Given the description of an element on the screen output the (x, y) to click on. 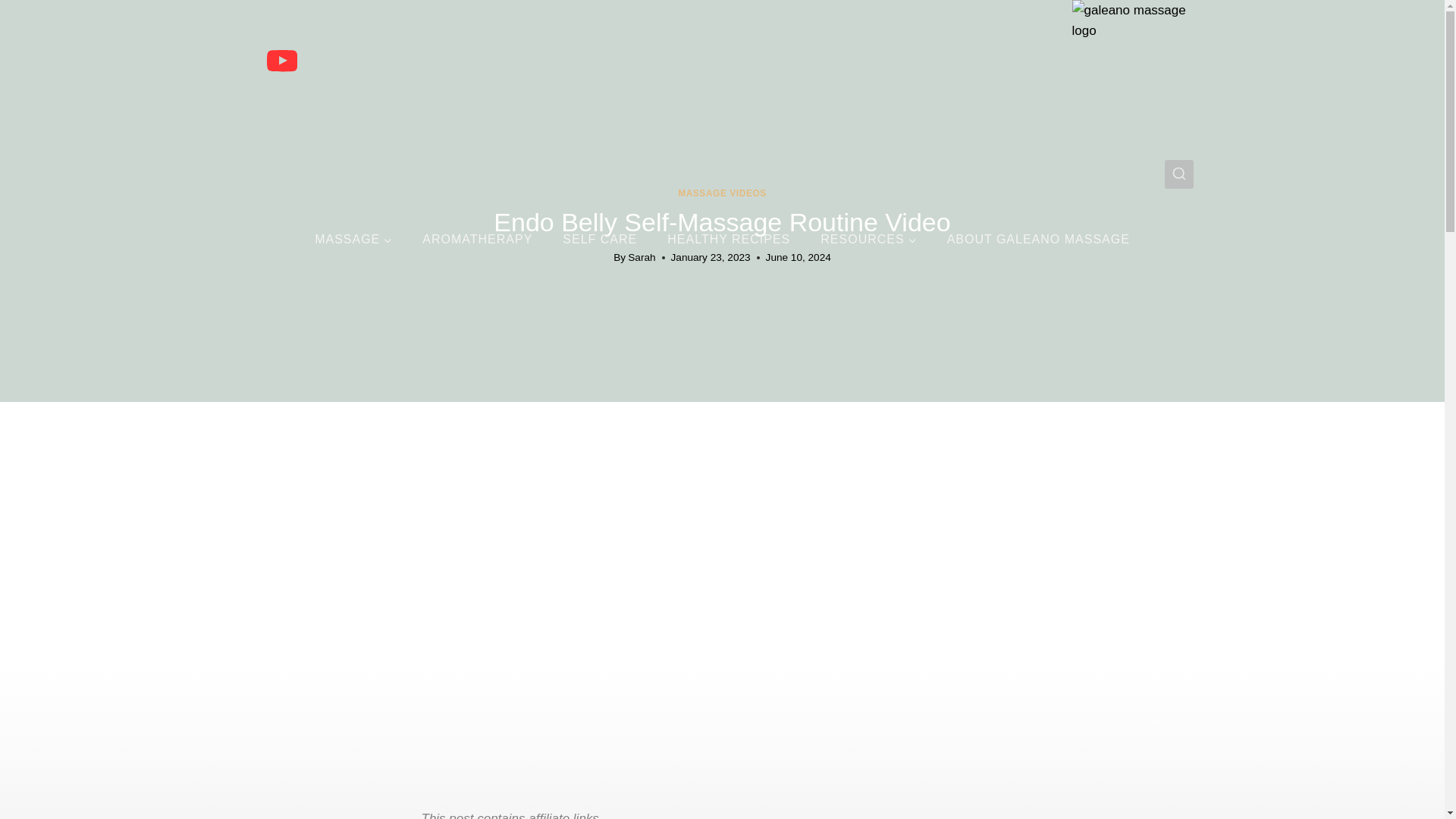
AROMATHERAPY (477, 239)
MASSAGE VIDEOS (722, 193)
Sarah (641, 256)
MASSAGE (353, 239)
SELF CARE (599, 239)
ABOUT GALEANO MASSAGE (1037, 239)
RESOURCES (868, 239)
HEALTHY RECIPES (728, 239)
